Given the description of an element on the screen output the (x, y) to click on. 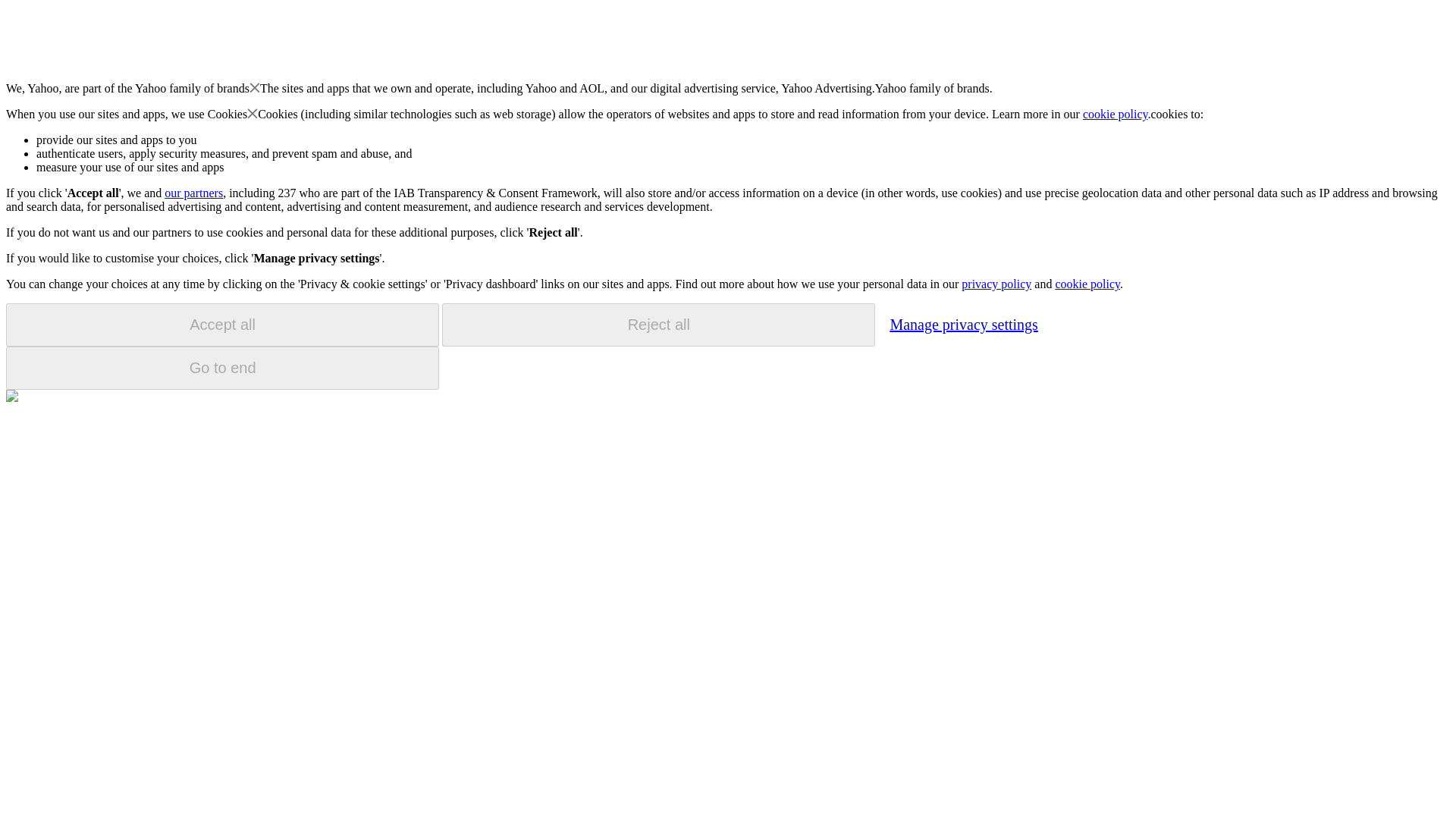
our partners (193, 192)
Go to end (222, 367)
Accept all (222, 324)
privacy policy (995, 283)
cookie policy (1086, 283)
Reject all (658, 324)
Manage privacy settings (963, 323)
cookie policy (1115, 113)
